Given the description of an element on the screen output the (x, y) to click on. 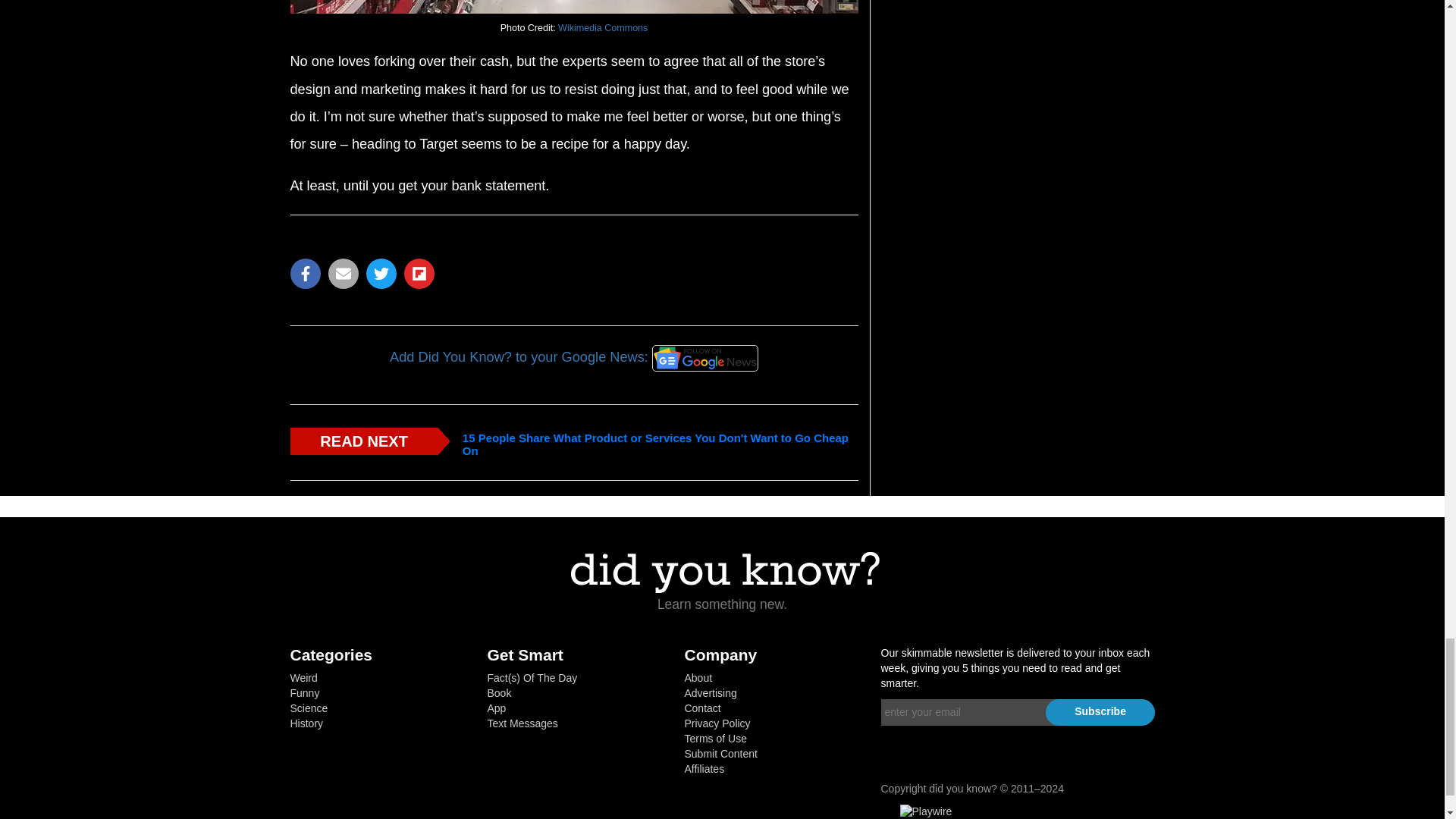
READ NEXT (363, 441)
Google News (705, 357)
Subscribe (1100, 712)
Add Did You Know? to your Google News: (573, 358)
Wikimedia Commons (602, 27)
